Given the description of an element on the screen output the (x, y) to click on. 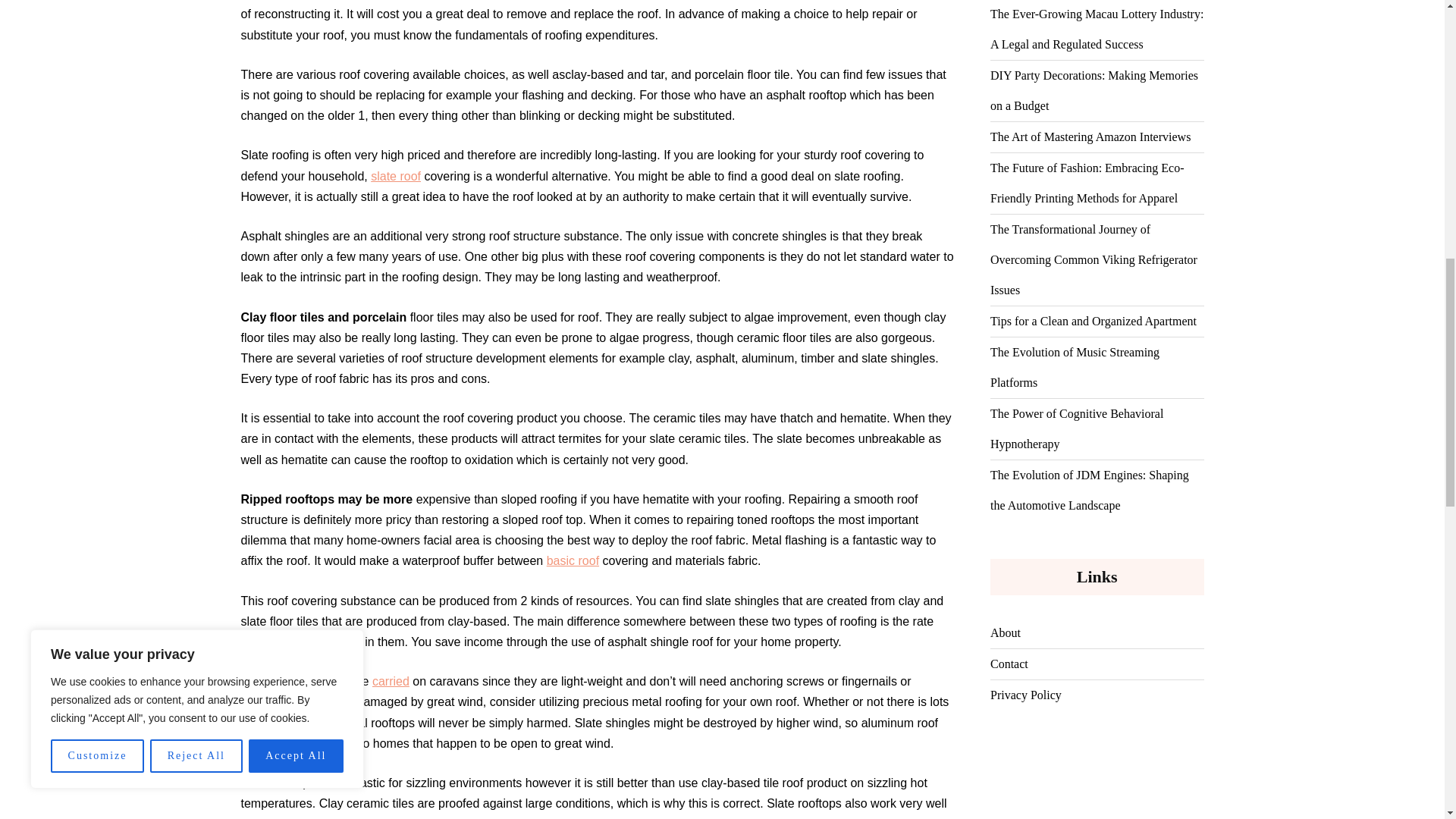
basic roof (572, 560)
slate roof (395, 175)
carried (390, 680)
